Given the description of an element on the screen output the (x, y) to click on. 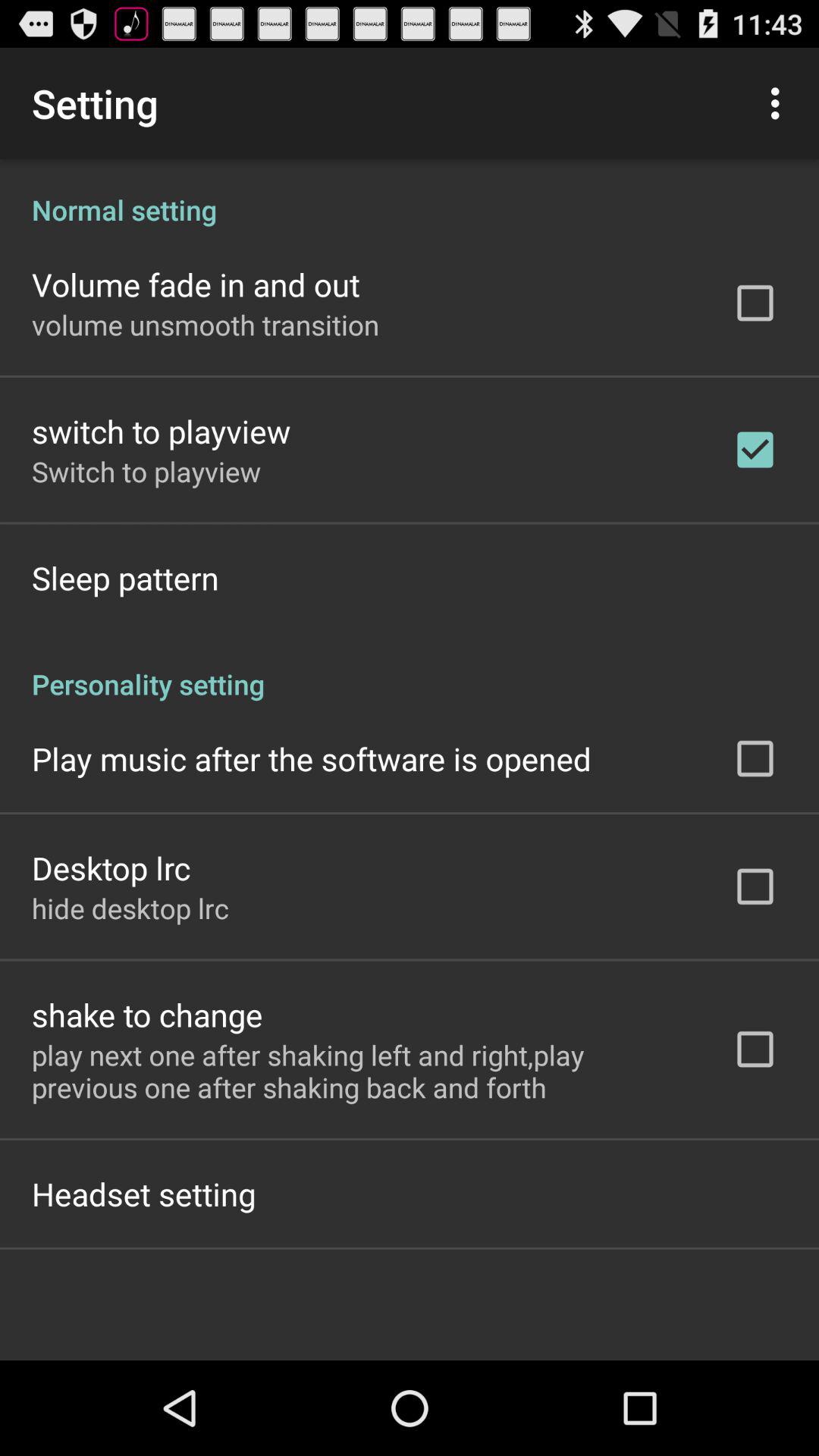
flip until volume unsmooth transition icon (205, 324)
